Given the description of an element on the screen output the (x, y) to click on. 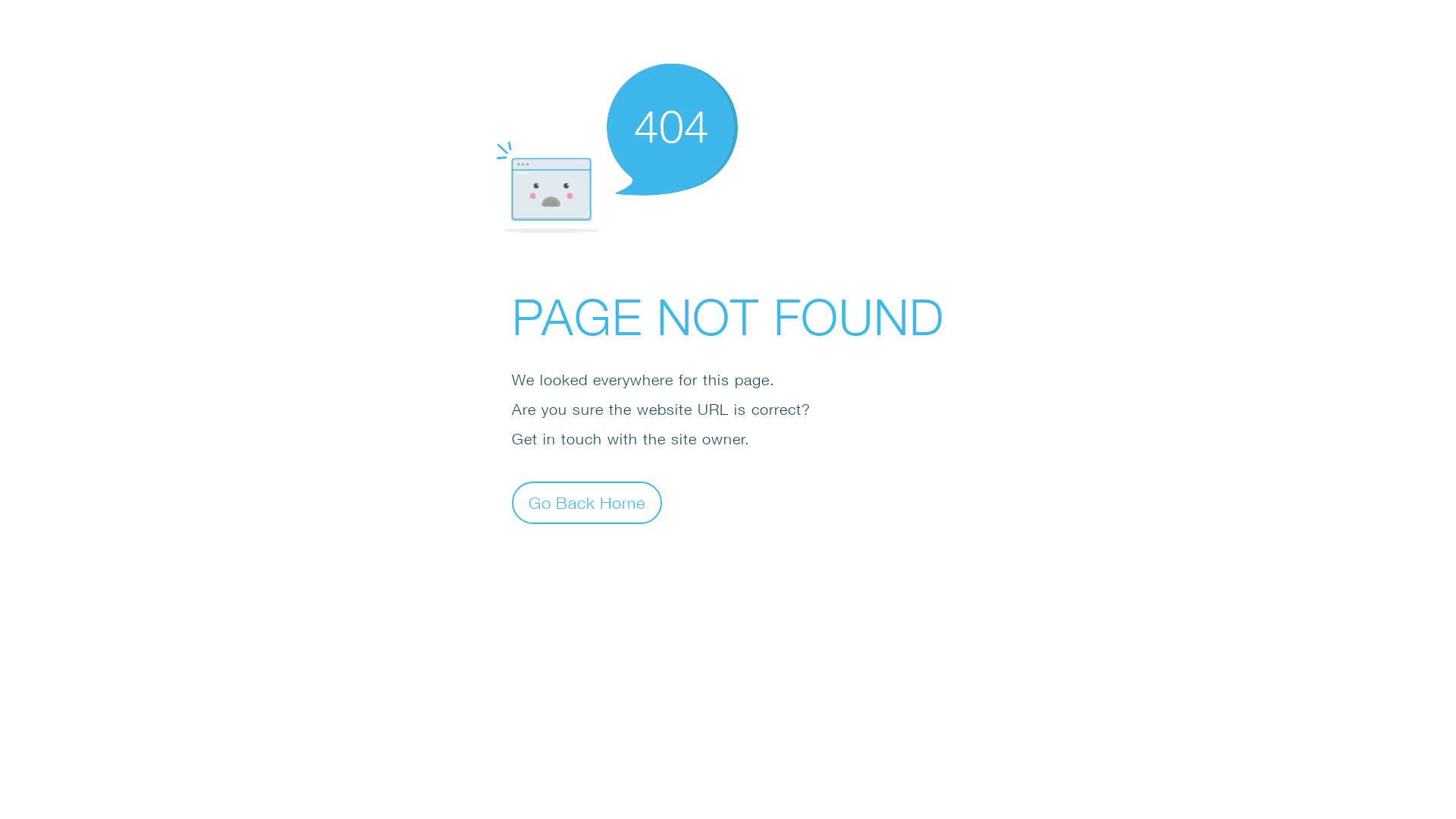
Go Back Home Element type: text (586, 502)
